Given the description of an element on the screen output the (x, y) to click on. 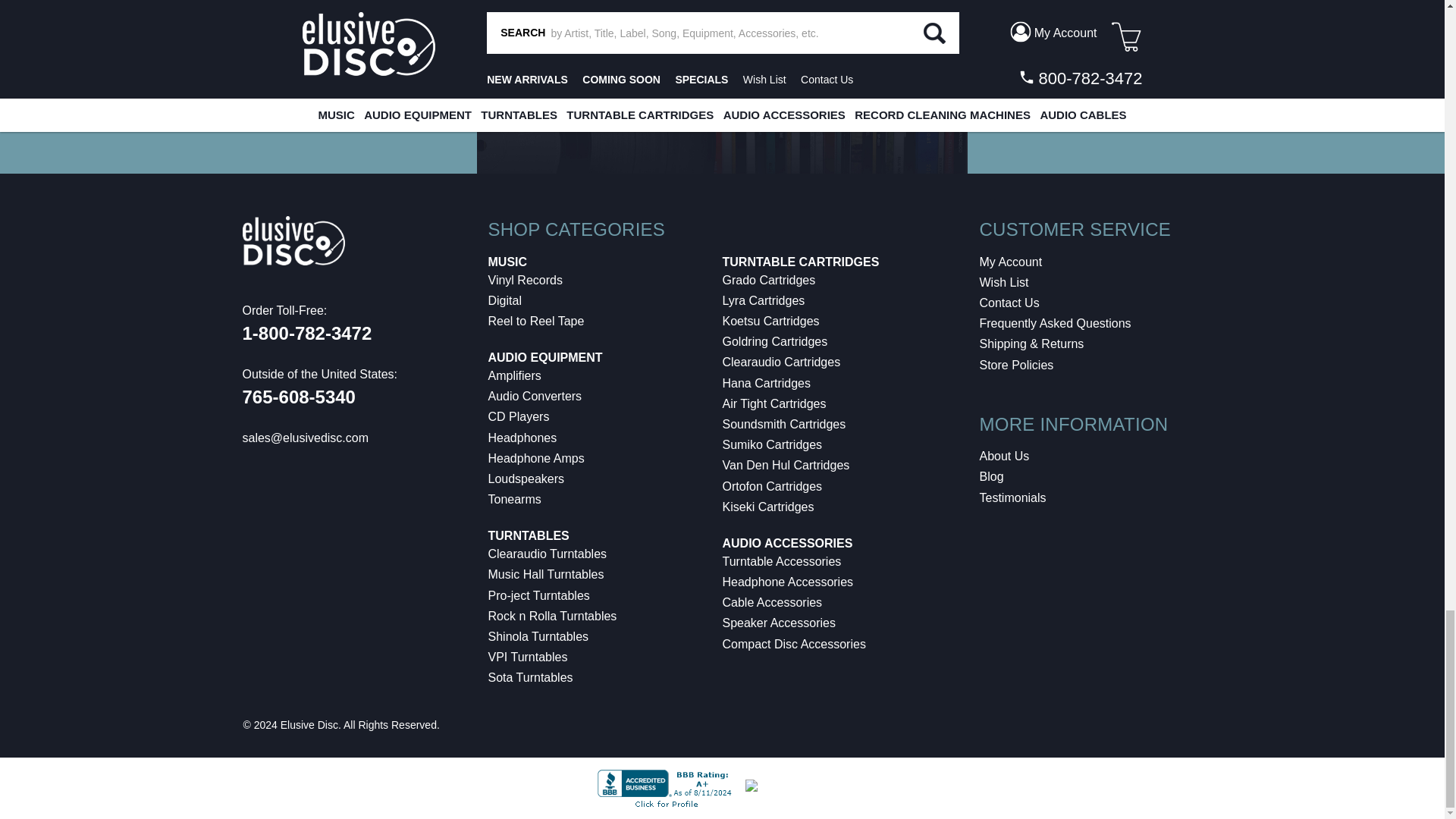
Tonearm (514, 499)
Audio Converter (534, 395)
CD Players (518, 416)
Digital (504, 300)
Headphones (522, 437)
Amplifiers (514, 375)
Loudspeakers (525, 478)
Reel to Reel Tape (536, 320)
Headphone Amp (536, 458)
Vinyl Records (524, 279)
